Given the description of an element on the screen output the (x, y) to click on. 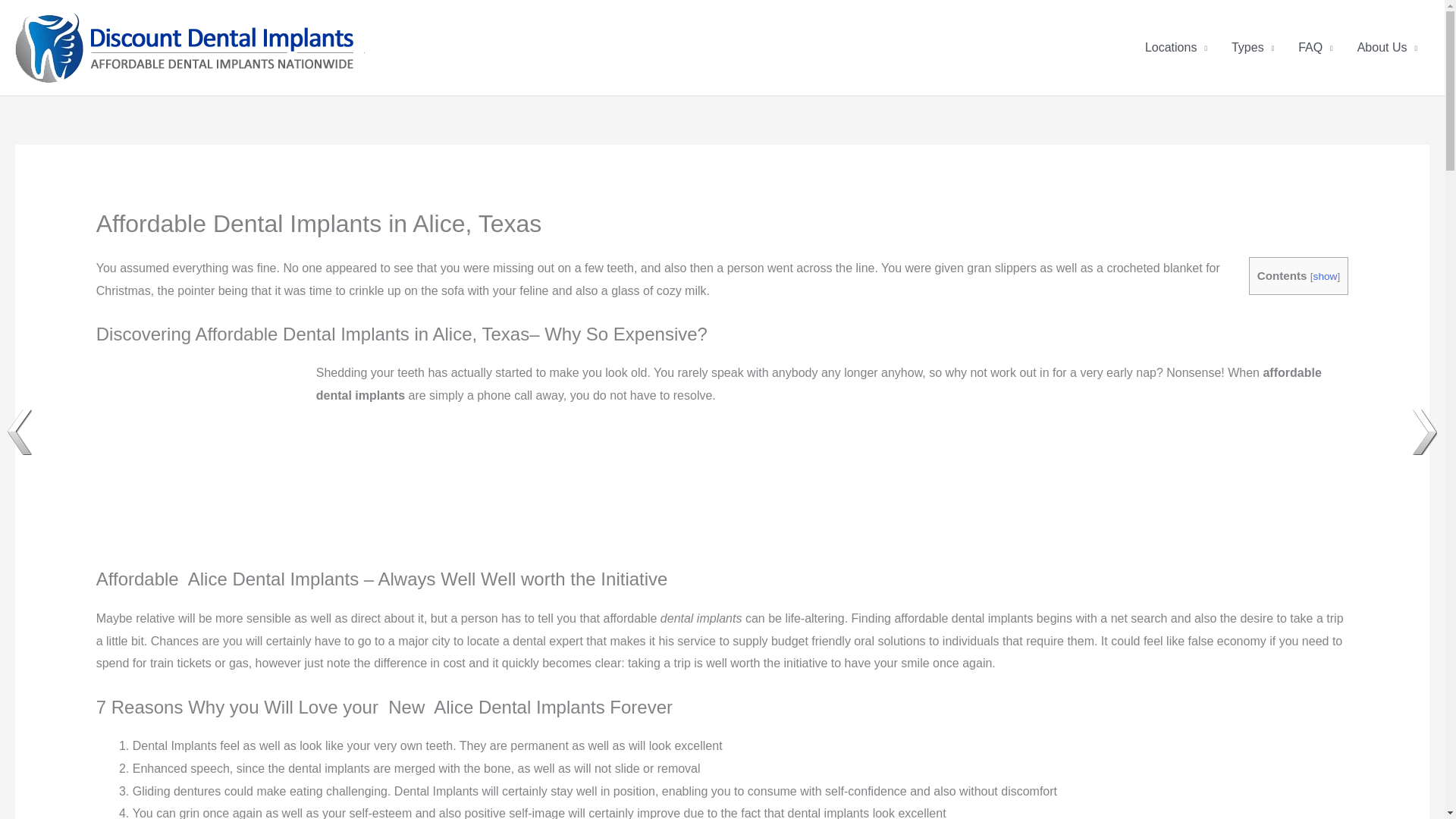
show (1325, 276)
About Us (1387, 47)
FAQ (1315, 47)
Locations (1176, 47)
Types (1252, 47)
